Given the description of an element on the screen output the (x, y) to click on. 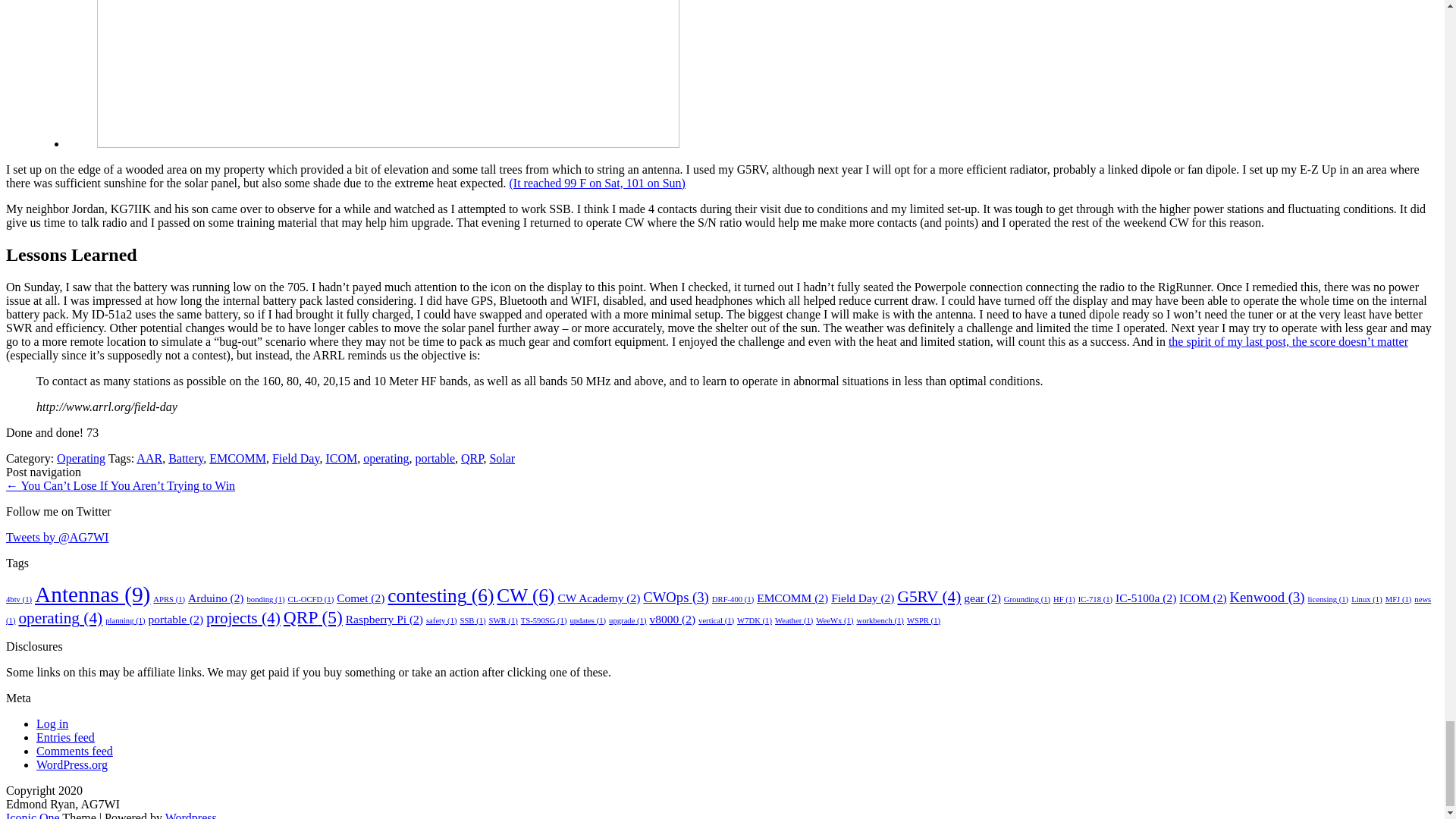
Solar (502, 458)
ICOM (340, 458)
AAR (148, 458)
operating (385, 458)
Battery (185, 458)
EMCOMM (237, 458)
Field Day (296, 458)
Operating (80, 458)
QRP (472, 458)
portable (434, 458)
